Given the description of an element on the screen output the (x, y) to click on. 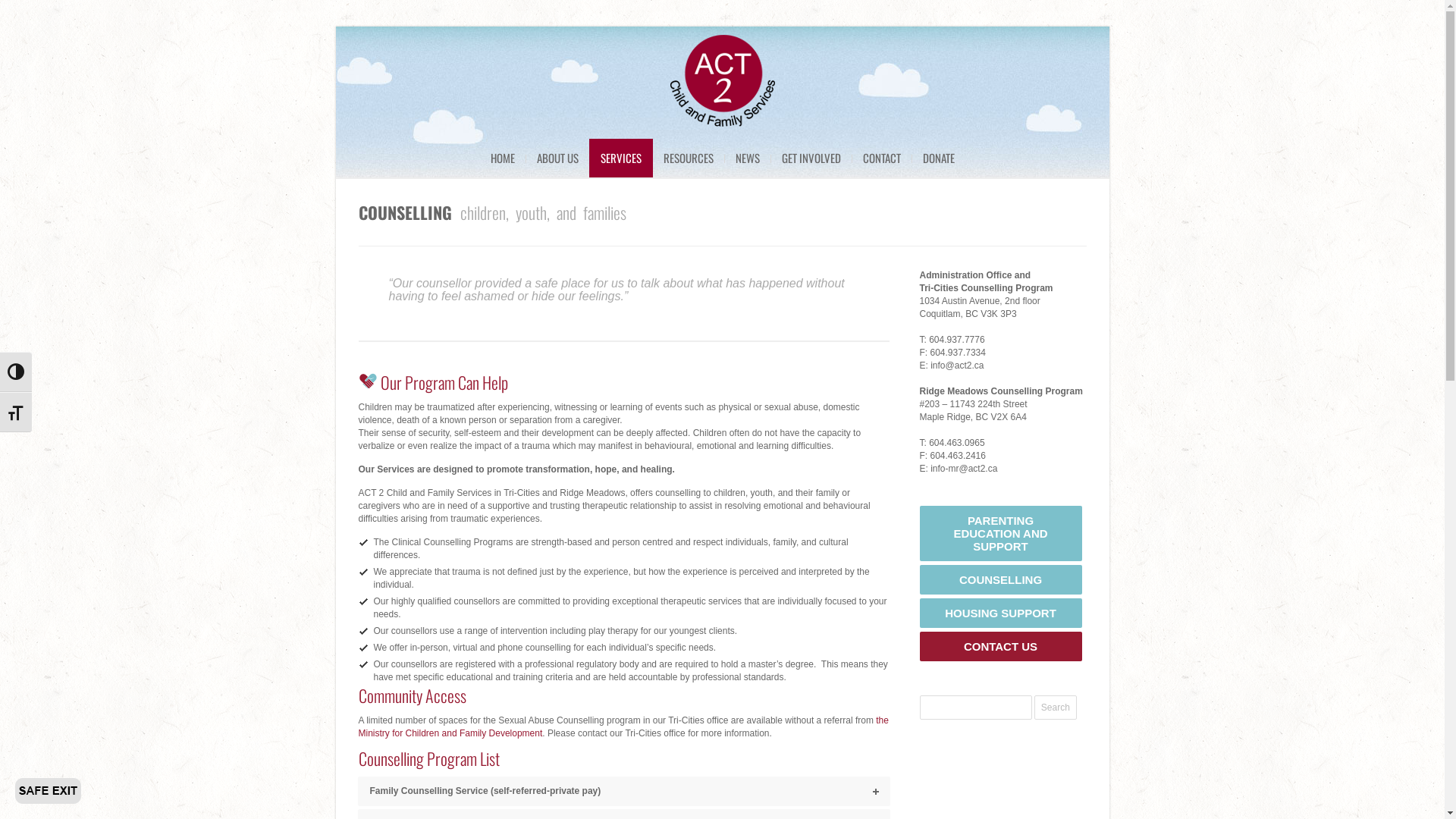
Toggle High Contrast Element type: text (15, 371)
SERVICES Element type: text (620, 157)
CONTACT Element type: text (880, 157)
NEWS Element type: text (746, 157)
ABOUT US Element type: text (556, 157)
HOUSING SUPPORT Element type: text (1000, 612)
CONTACT US Element type: text (1000, 646)
Search Element type: text (1055, 707)
Toggle Font size Element type: text (15, 412)
PARENTING EDUCATION AND SUPPORT Element type: text (1000, 533)
GET INVOLVED Element type: text (811, 157)
HOME Element type: text (502, 157)
RESOURCES Element type: text (688, 157)
the Ministry for Children and Family Development Element type: text (622, 725)
DONATE Element type: text (938, 157)
COUNSELLING Element type: text (1000, 579)
